Given the description of an element on the screen output the (x, y) to click on. 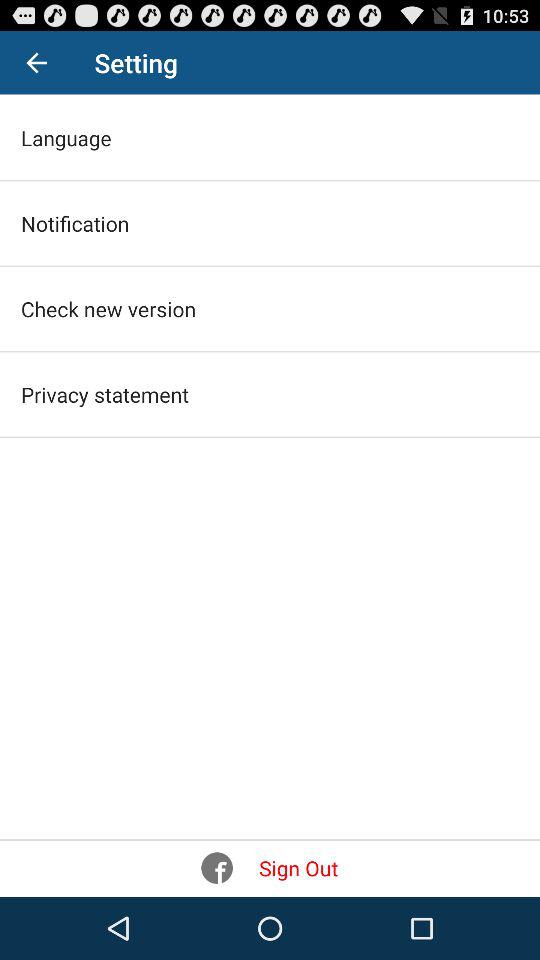
tap privacy statement icon (104, 394)
